Given the description of an element on the screen output the (x, y) to click on. 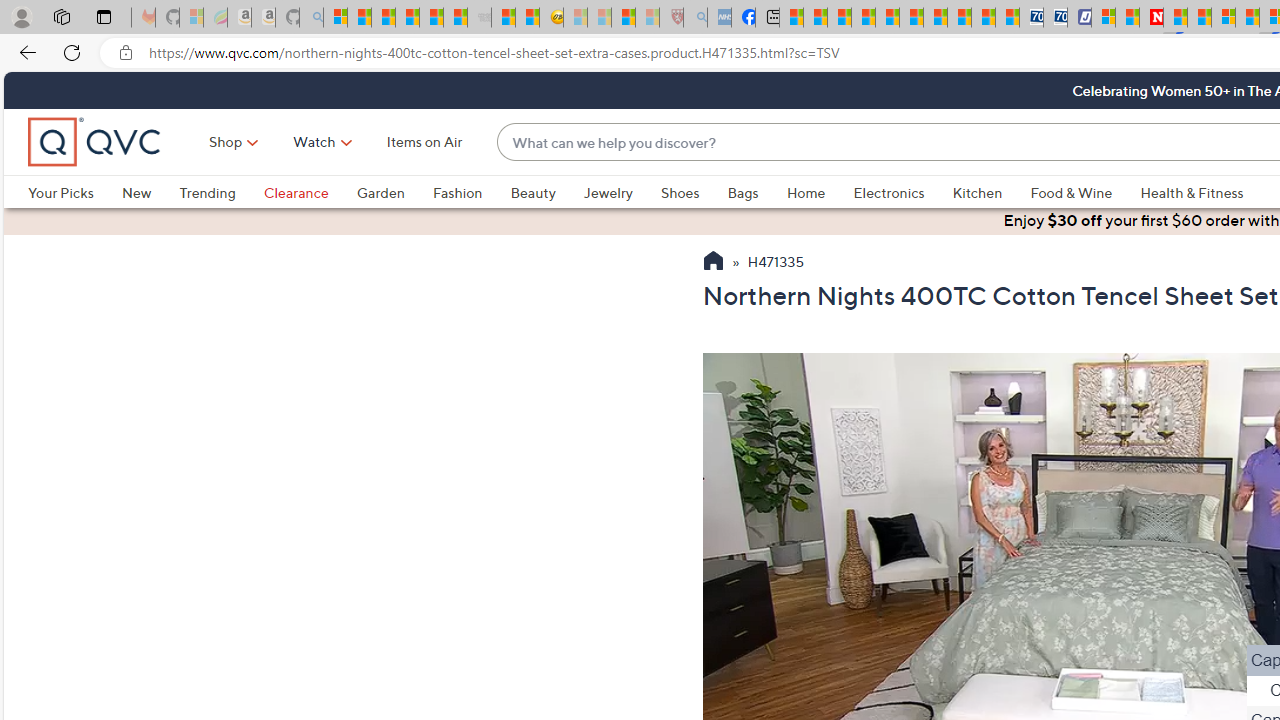
Garden (379, 192)
H471335 (775, 263)
QVC home (95, 141)
Food & Wine (1071, 192)
Your Picks (60, 192)
New (150, 192)
